Given the description of an element on the screen output the (x, y) to click on. 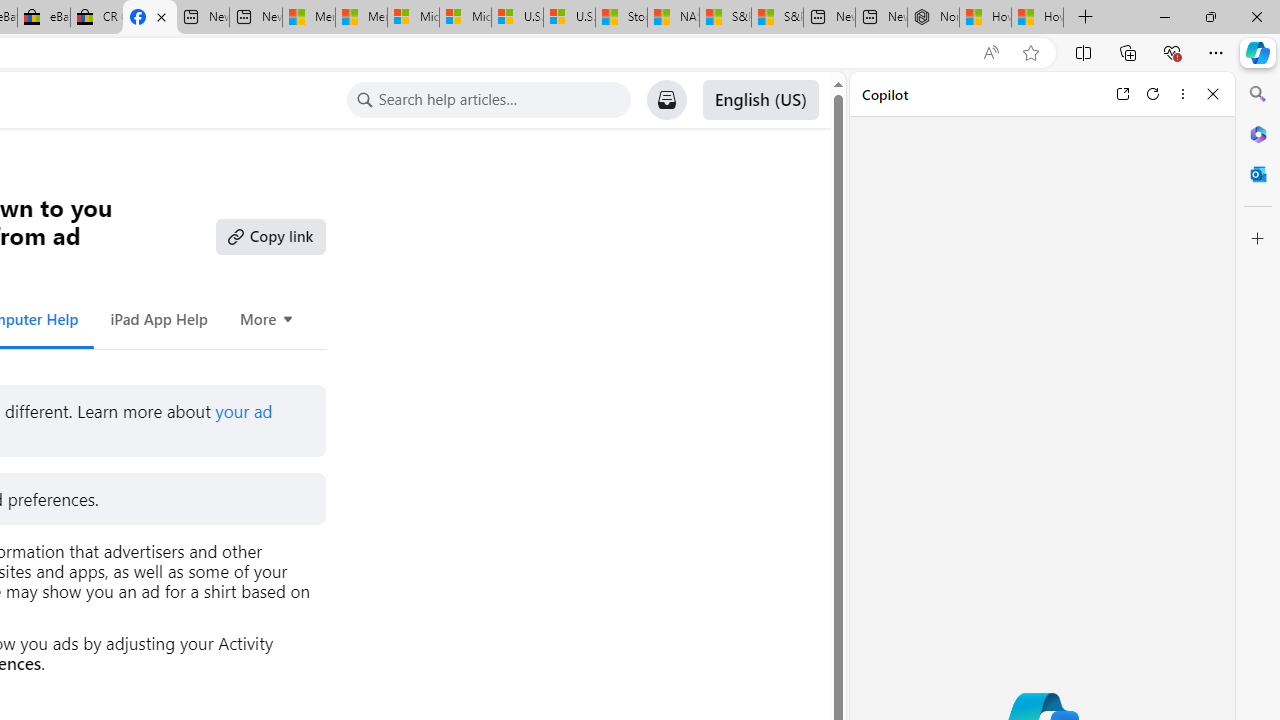
More options (1182, 93)
iPad App Help (158, 318)
Class: x19dipnz x1lliihq x1tzjh5l x1k90msu x2h7rmj x1qfuztq (363, 100)
Change Language: English (US) (760, 99)
